Given the description of an element on the screen output the (x, y) to click on. 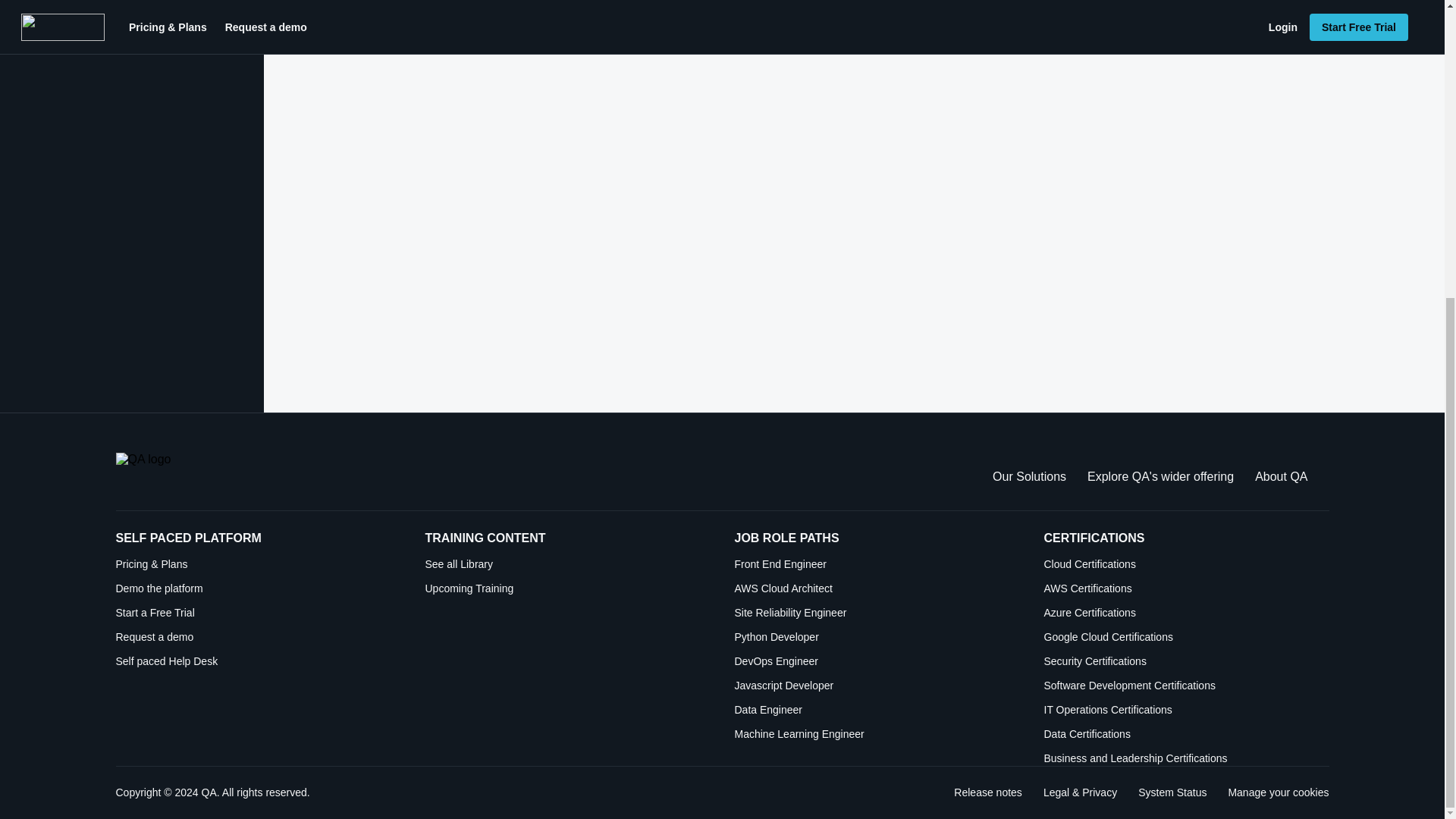
AWS Cloud Architect (876, 588)
Data Engineer (876, 709)
IT Operations Certifications (1185, 709)
Upcoming Training (567, 588)
DevOps Engineer (876, 661)
See all Library (567, 563)
Google Cloud Certifications (1185, 636)
Data Certifications (1185, 734)
Security Certifications (1185, 661)
Business and Leadership Certifications (1185, 758)
